Given the description of an element on the screen output the (x, y) to click on. 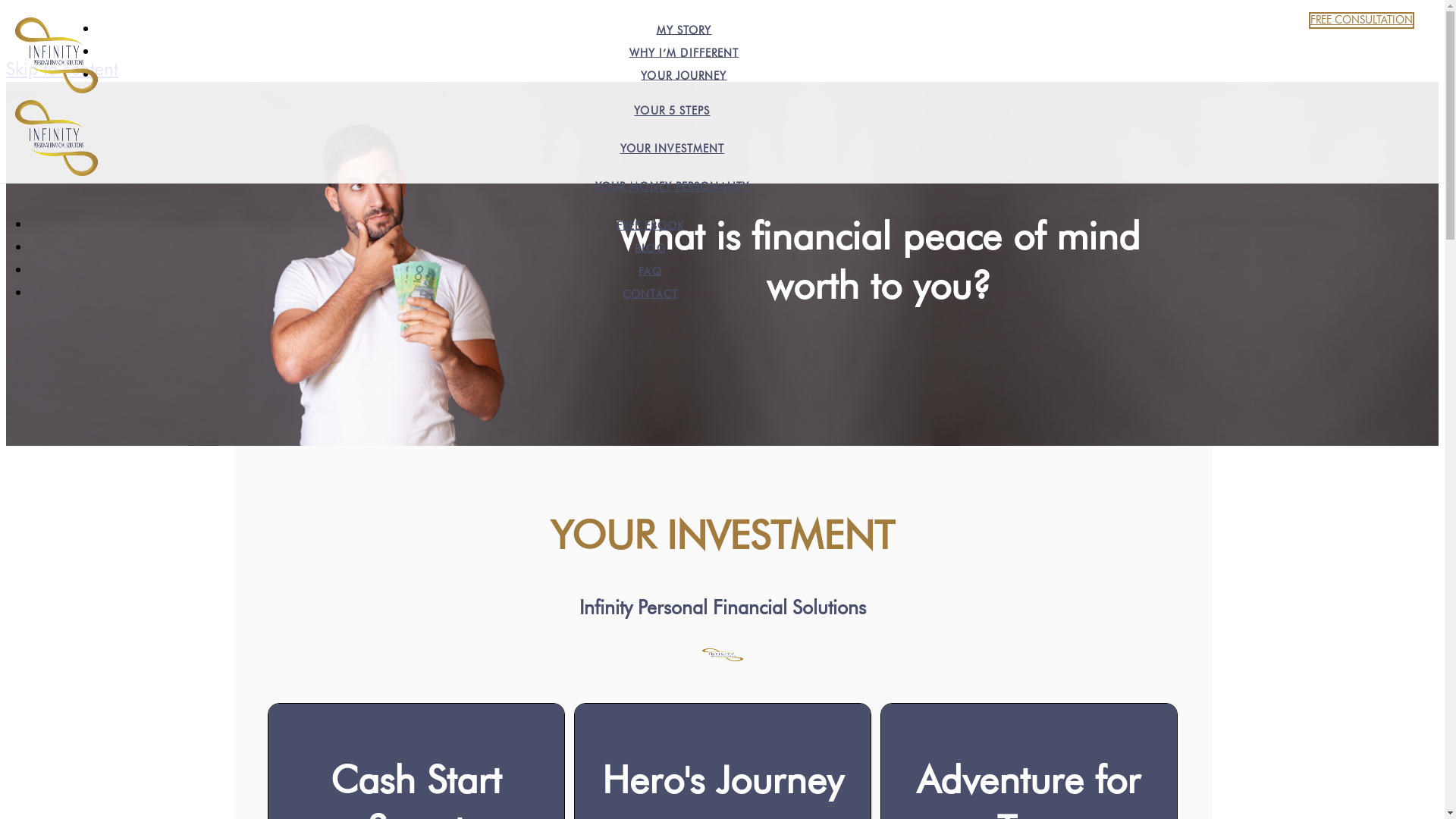
CONTACT Element type: text (649, 293)
FREE CONSULTATION Element type: text (1361, 20)
BLOG Element type: text (649, 248)
FAQ Element type: text (649, 271)
Infinity Solutions - Personal Financial Solutions Element type: hover (56, 129)
YOUR INVESTMENT Element type: text (672, 149)
MY STORY Element type: text (683, 29)
FREE EBOOK Element type: text (650, 225)
Skip to content Element type: text (62, 69)
YOUR JOURNEY Element type: text (683, 75)
YOUR 5 STEPS Element type: text (671, 111)
YOUR MONEY PERSONALITY Element type: text (672, 187)
